Given the description of an element on the screen output the (x, y) to click on. 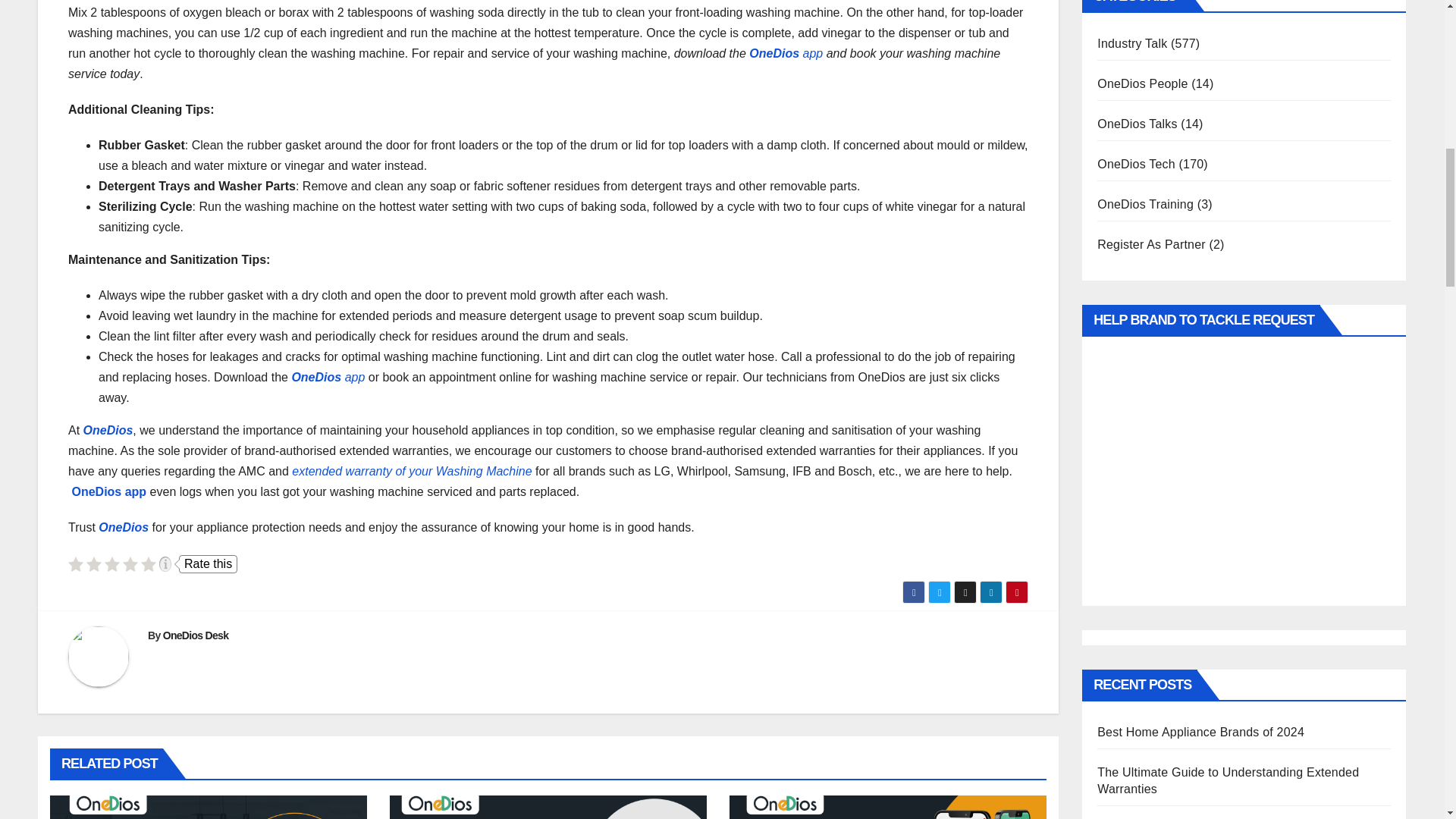
extended warranty of your Washing Machine (411, 471)
OneDios app (785, 52)
OneDios app (328, 377)
OneDios (123, 526)
OneDios app  (110, 491)
OneDios (107, 430)
